Given the description of an element on the screen output the (x, y) to click on. 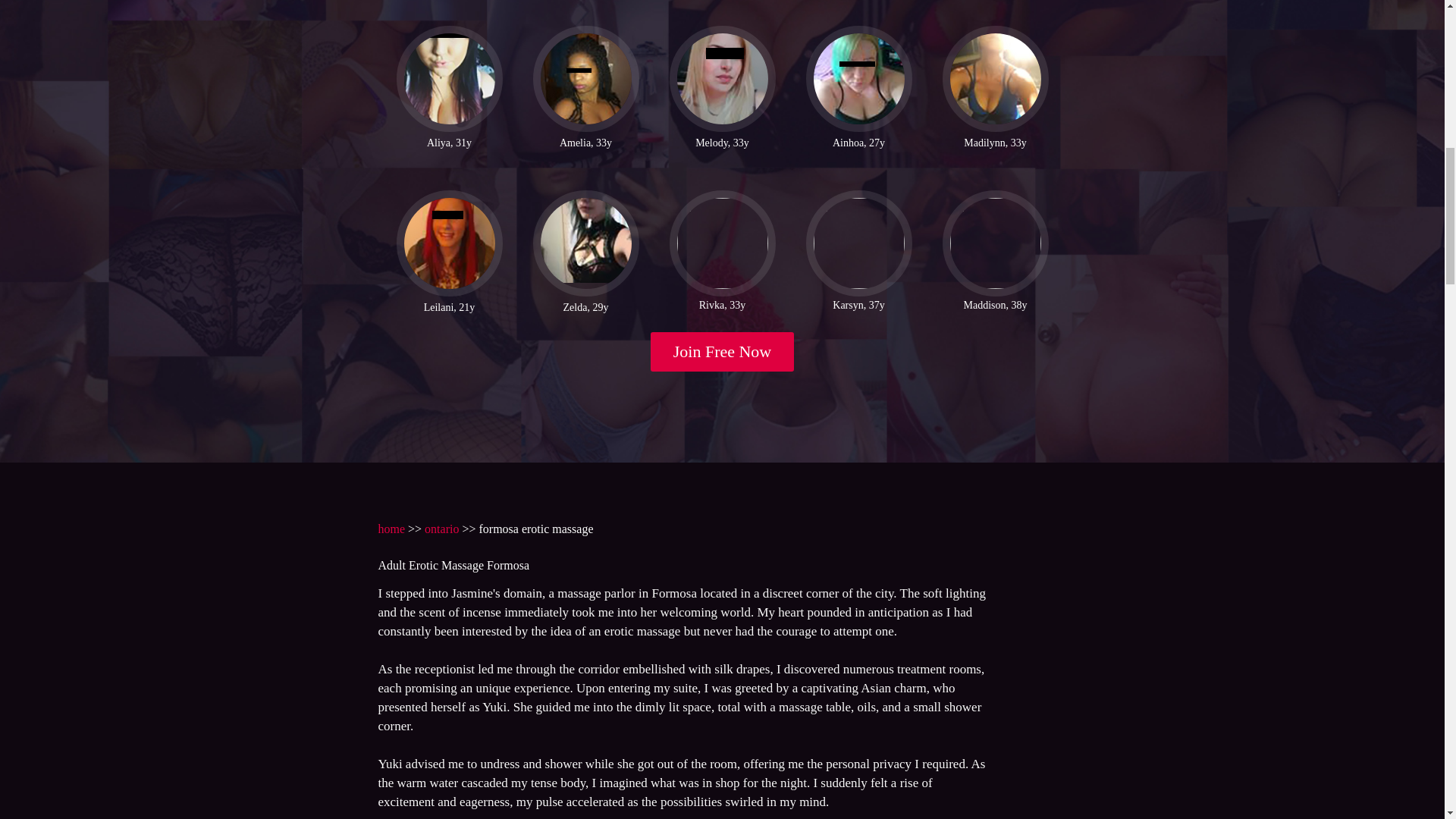
ontario (441, 528)
Join (722, 351)
home (390, 528)
Join Free Now (722, 351)
